Given the description of an element on the screen output the (x, y) to click on. 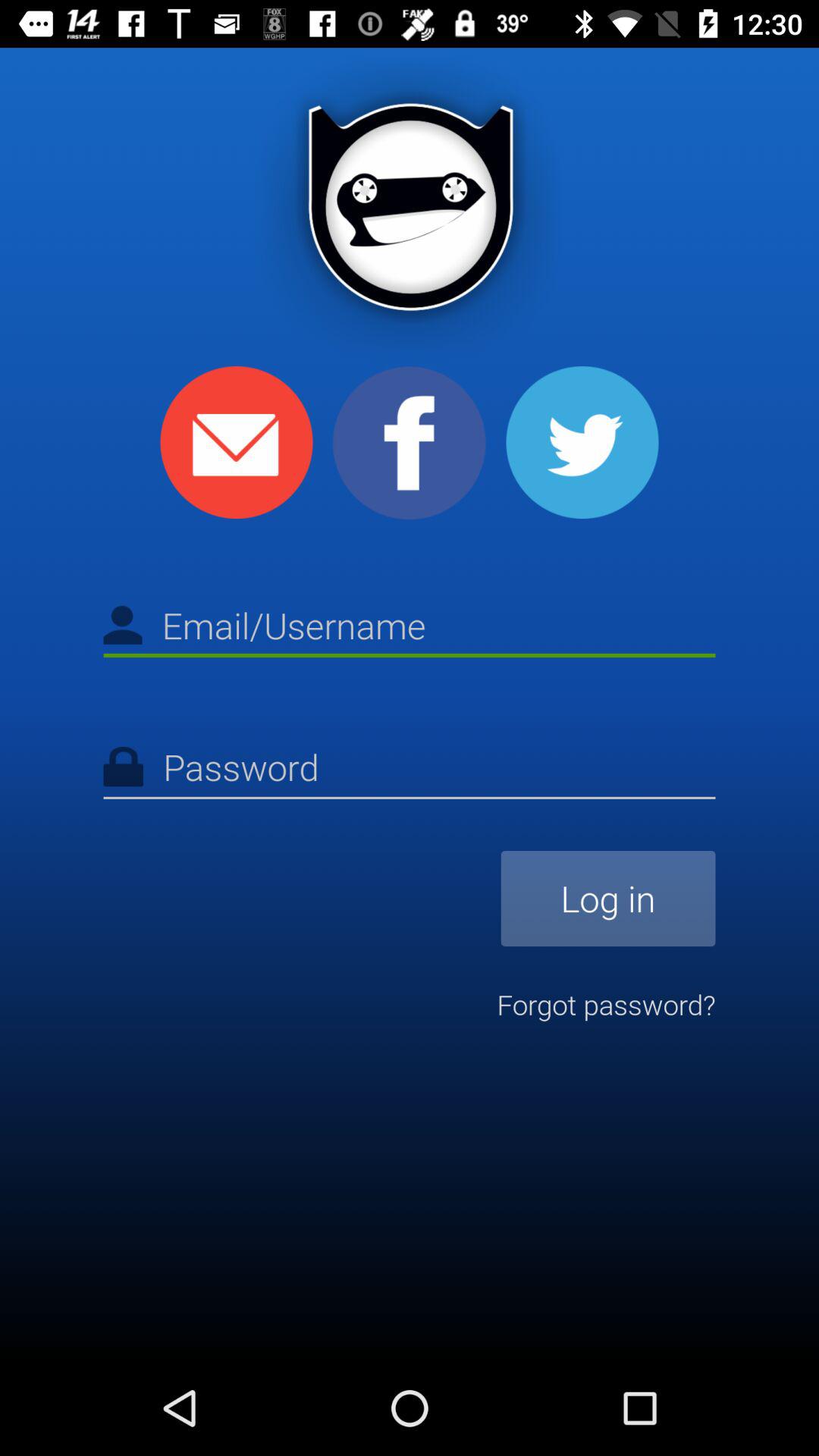
share with twitter (582, 442)
